Given the description of an element on the screen output the (x, y) to click on. 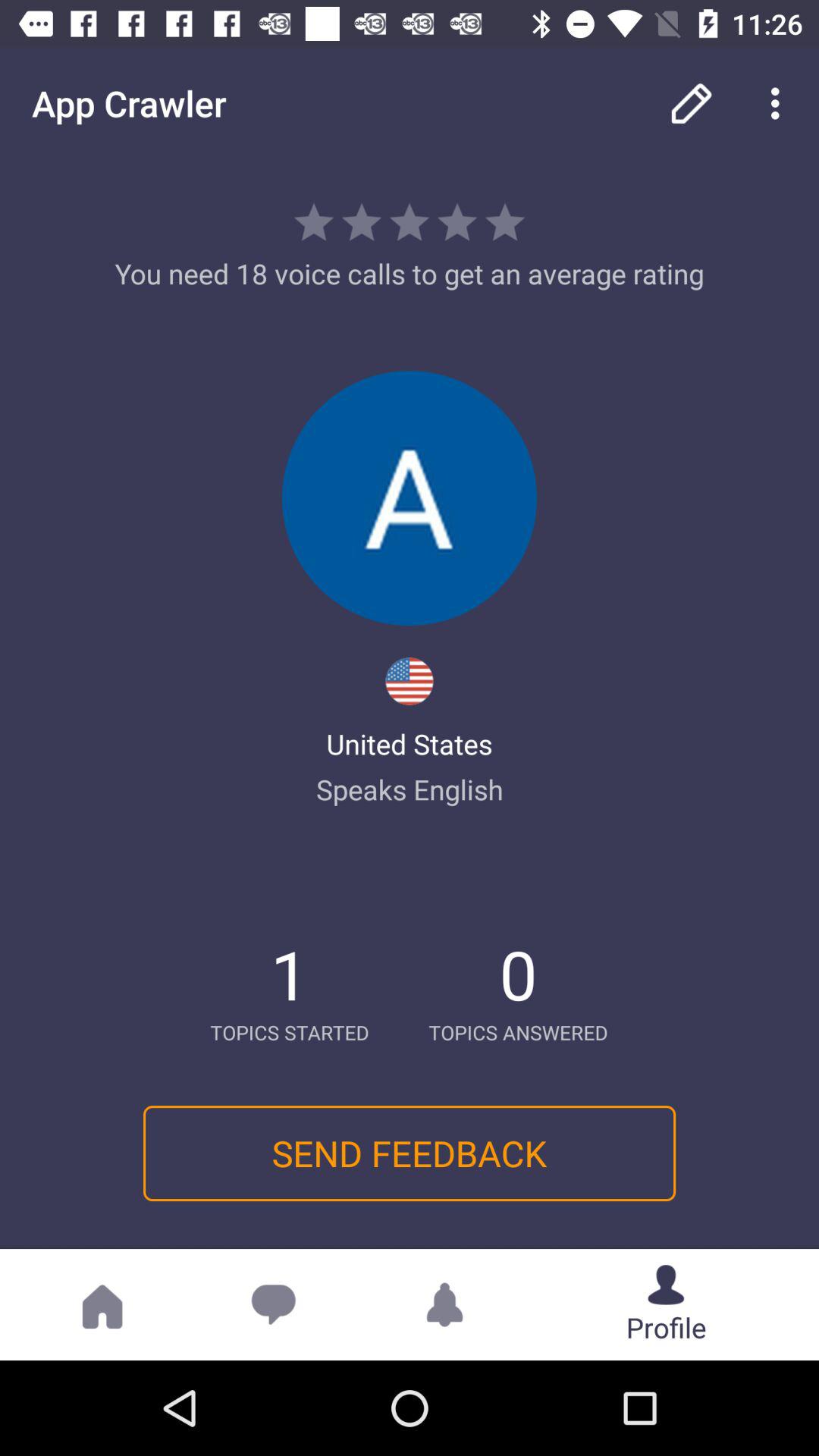
select the message icon at the bottom of the page (273, 1304)
choose the alphabet latter a from the middle (409, 498)
click on the icon left of the profile (444, 1305)
